Given the description of an element on the screen output the (x, y) to click on. 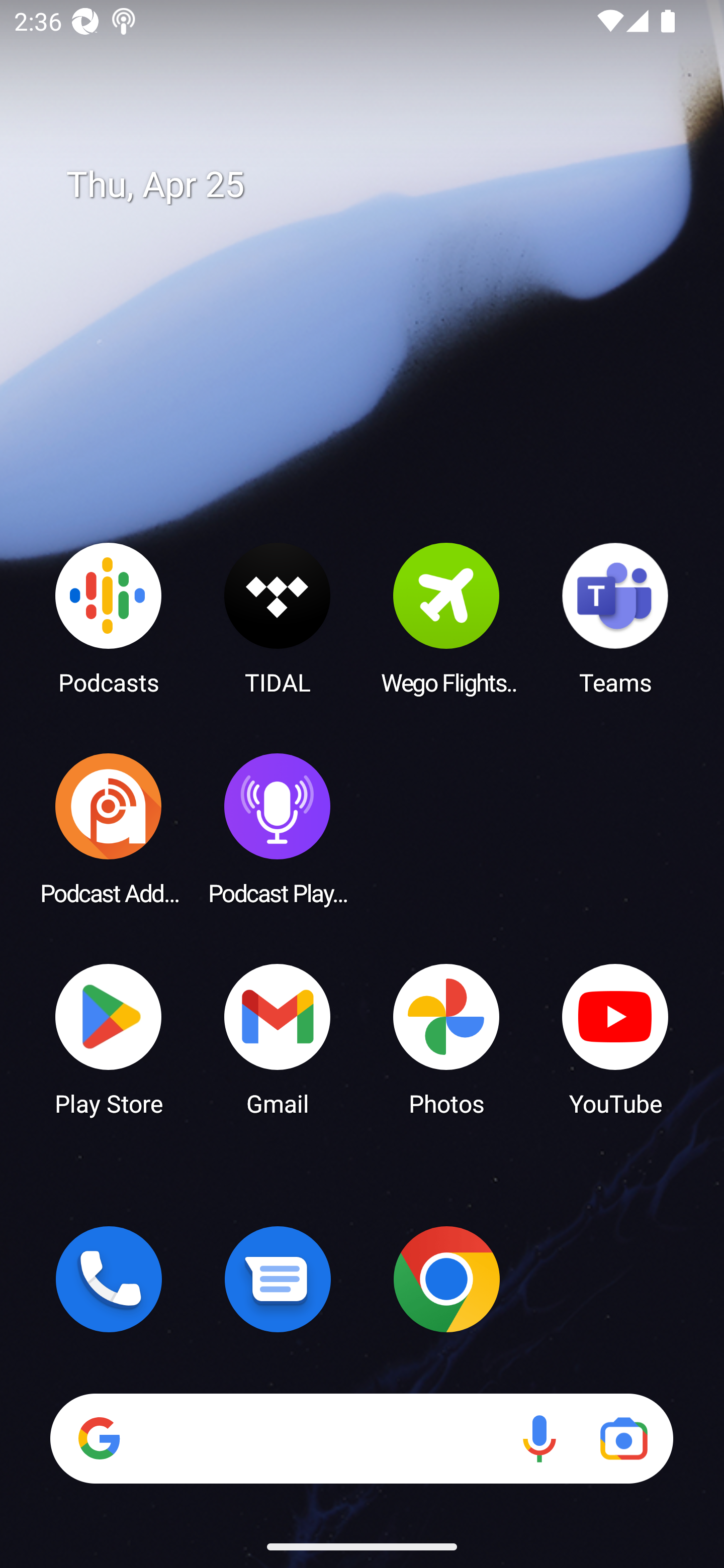
Thu, Apr 25 (375, 184)
Podcasts (108, 617)
TIDAL (277, 617)
Wego Flights & Hotels (445, 617)
Teams (615, 617)
Podcast Addict (108, 828)
Podcast Player (277, 828)
Play Store (108, 1038)
Gmail (277, 1038)
Photos (445, 1038)
YouTube (615, 1038)
Phone (108, 1279)
Messages (277, 1279)
Chrome (446, 1279)
Search Voice search Google Lens (361, 1438)
Voice search (539, 1438)
Google Lens (623, 1438)
